Given the description of an element on the screen output the (x, y) to click on. 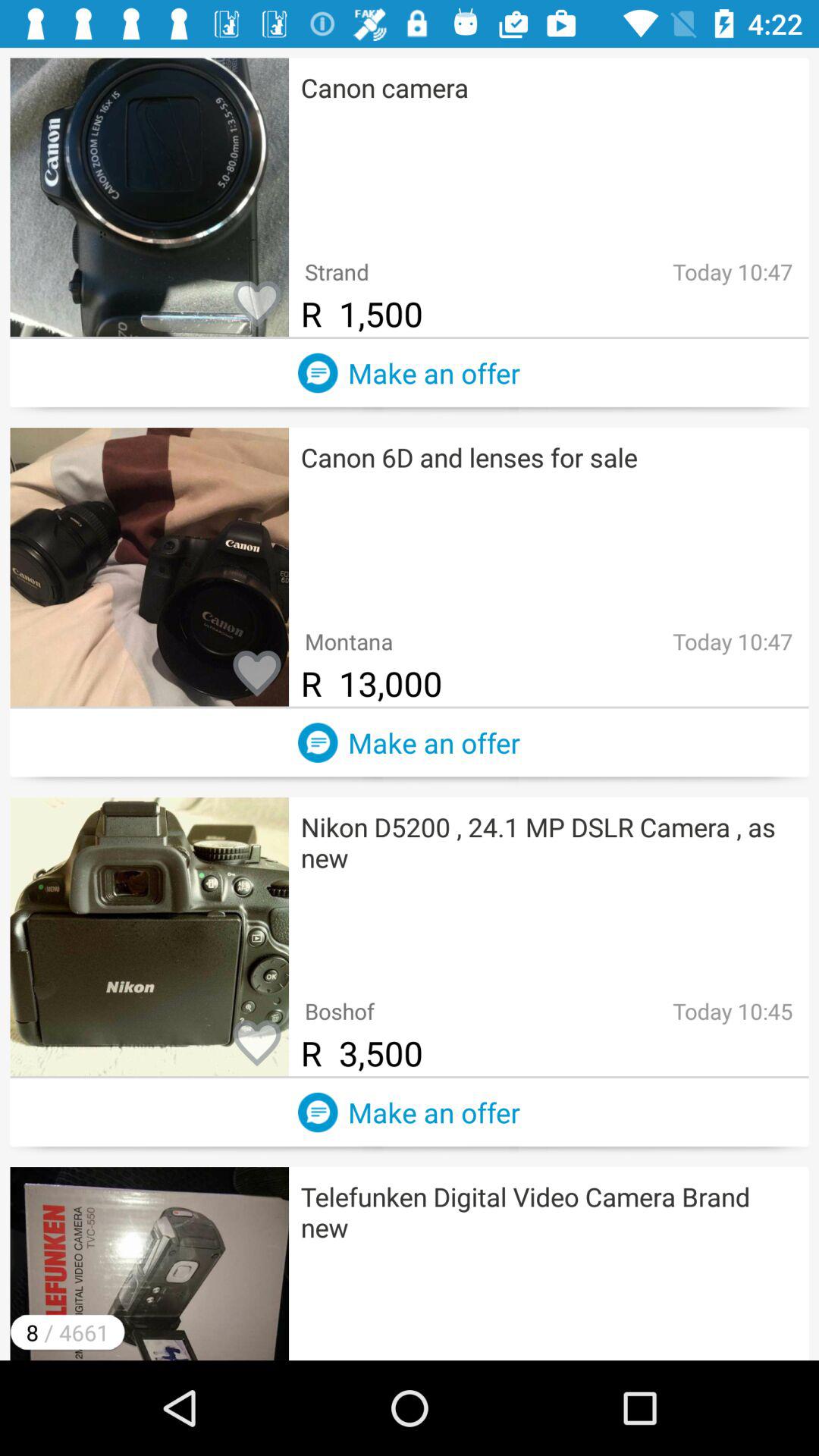
make an offer (317, 373)
